Given the description of an element on the screen output the (x, y) to click on. 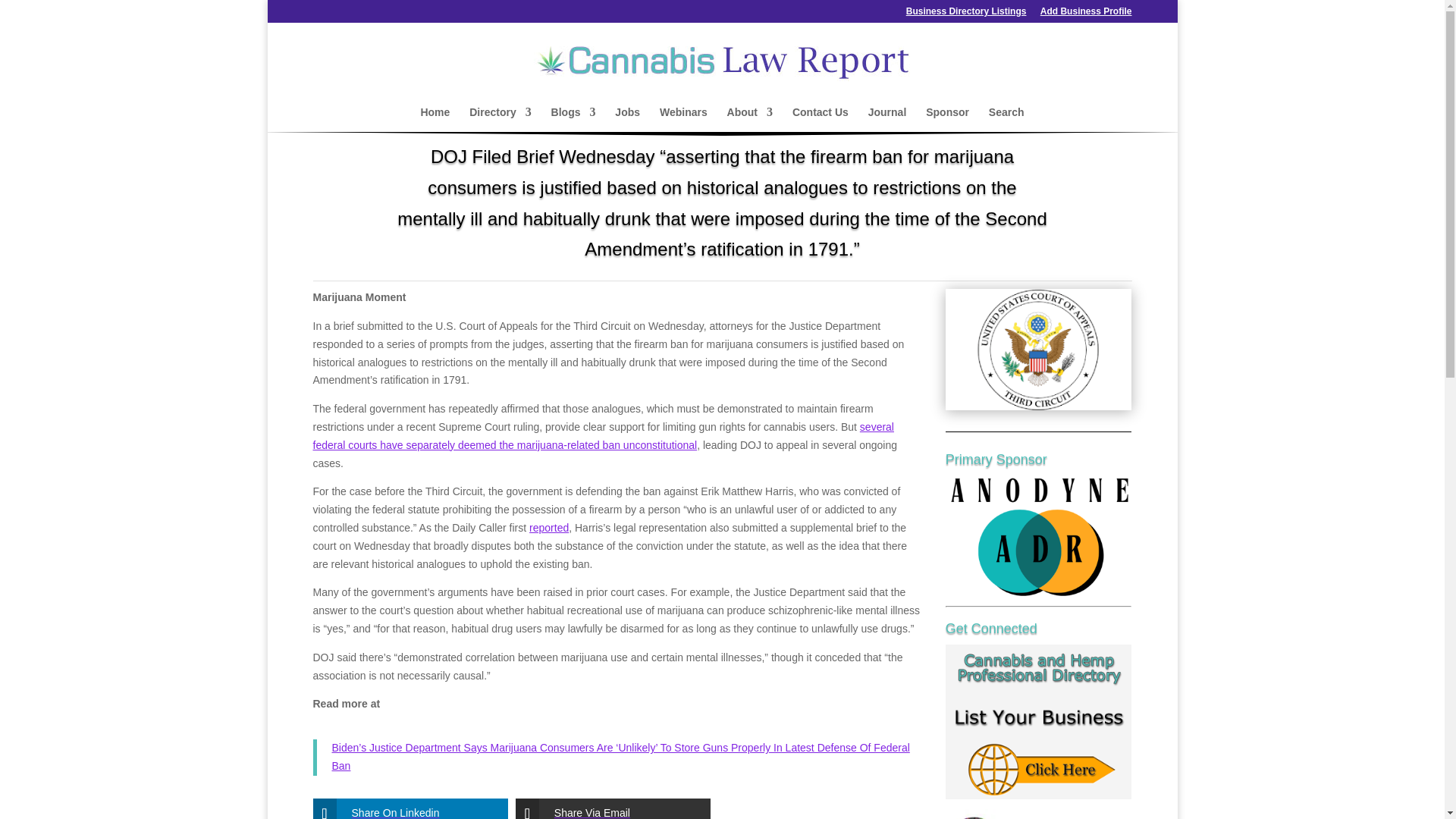
Directory (499, 119)
Add Business Profile (1086, 14)
Blogs (573, 119)
Home (434, 119)
Screenshot 2023-11-18 at 9.44.27 am (1038, 349)
Business Directory Listings (965, 14)
